Given the description of an element on the screen output the (x, y) to click on. 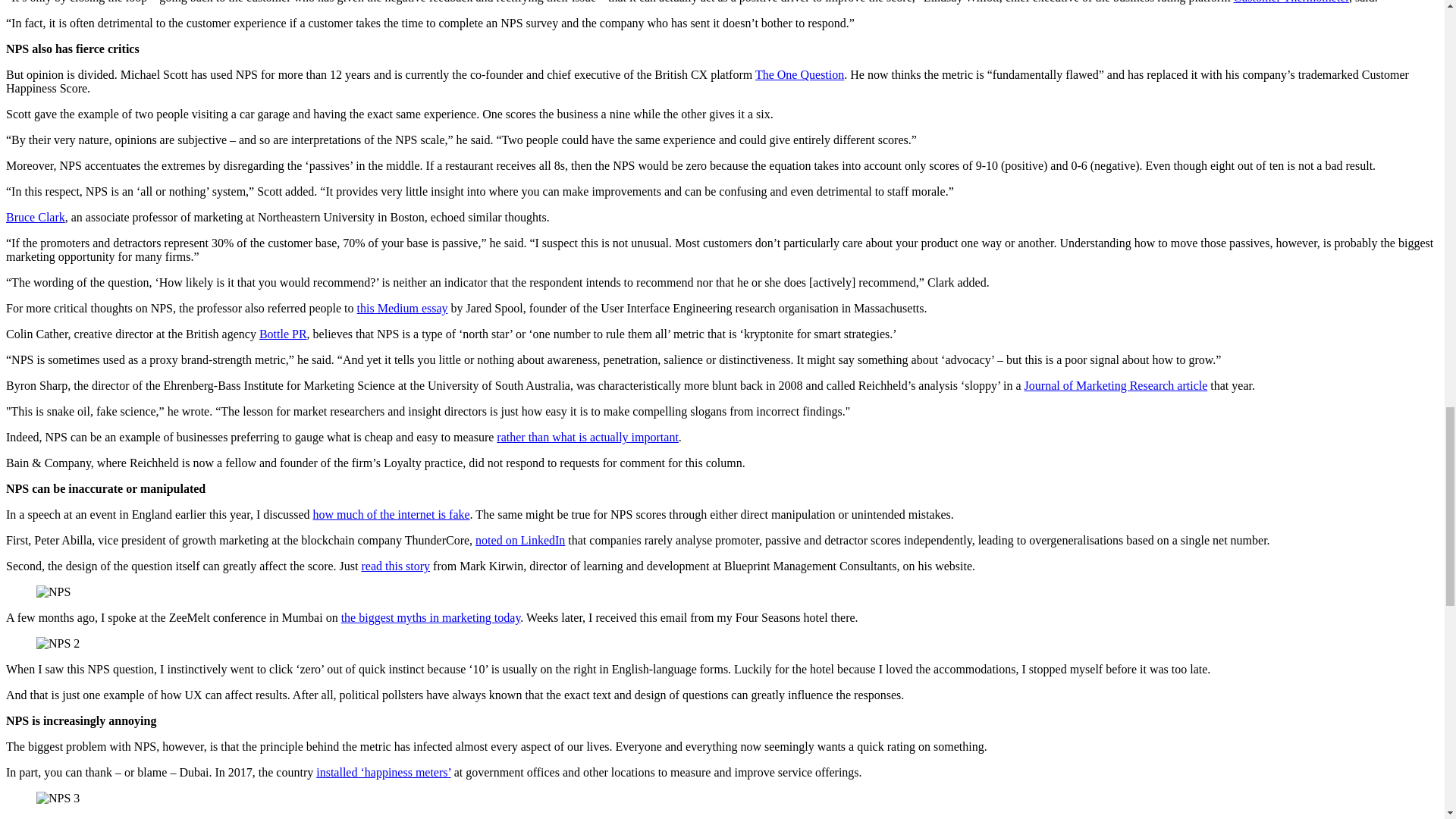
Bottle PR (283, 333)
rather than what is actually important (587, 436)
Customer Thermometer (1291, 2)
Bruce Clark (35, 216)
NPS 3 (58, 798)
this Medium essay (402, 308)
the biggest myths in marketing today (430, 617)
NPS (52, 591)
of Marketing Research article (1133, 385)
The One Question (799, 74)
